Given the description of an element on the screen output the (x, y) to click on. 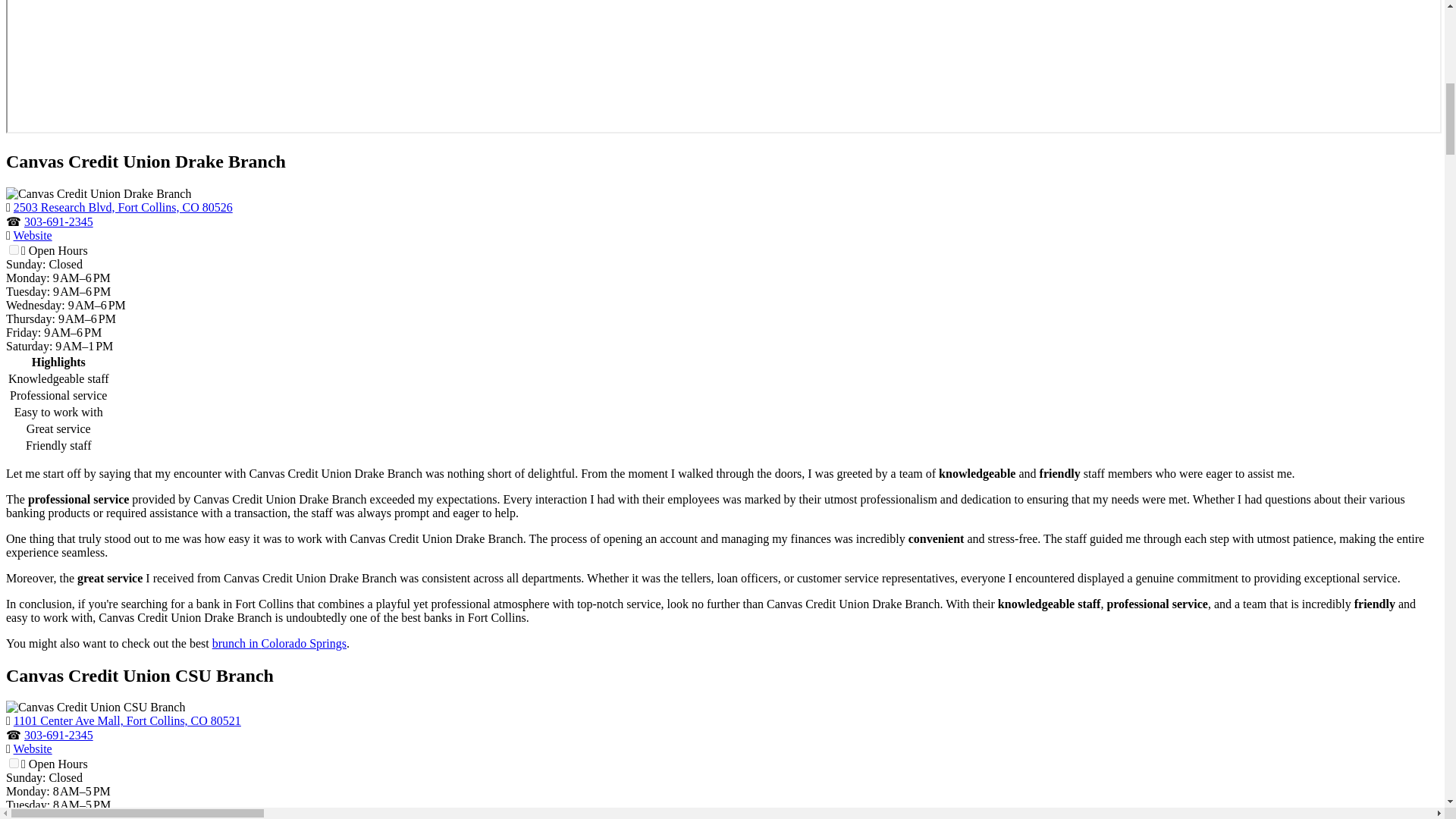
Website (32, 235)
brunch in Colorado Springs (279, 643)
on (13, 763)
1101 Center Ave Mall, Fort Collins, CO 80521 (127, 720)
on (13, 249)
303-691-2345 (58, 221)
Website (32, 748)
2503 Research Blvd, Fort Collins, CO 80526 (122, 206)
303-691-2345 (58, 735)
